Given the description of an element on the screen output the (x, y) to click on. 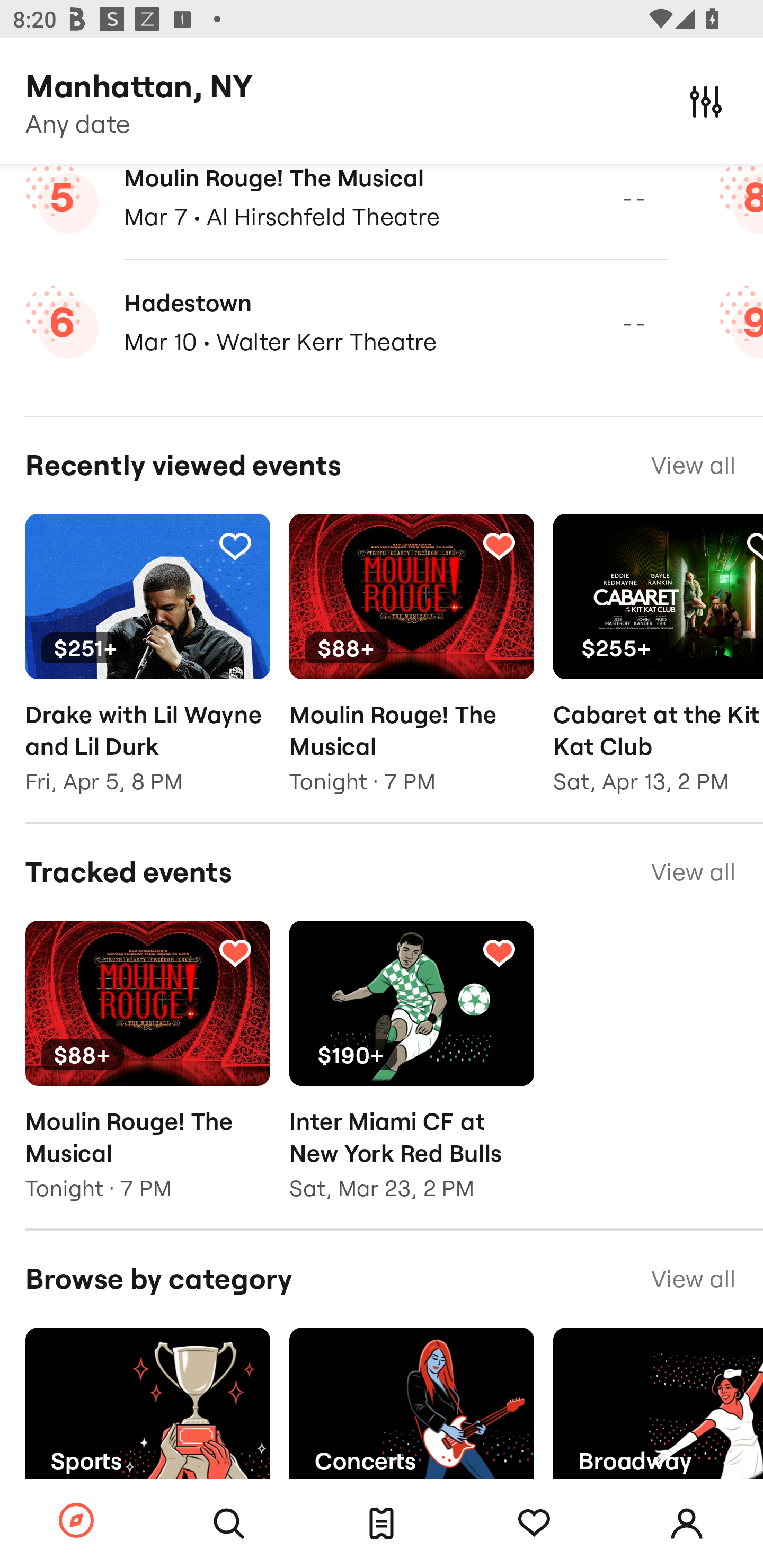
Filters (705, 100)
View all (693, 465)
Tracking (234, 545)
Tracking (498, 545)
View all (693, 871)
Tracking (234, 952)
Tracking (498, 952)
View all (693, 1279)
Sports (147, 1410)
Concerts (411, 1410)
Broadway (658, 1410)
Browse (76, 1521)
Search (228, 1523)
Tickets (381, 1523)
Tracking (533, 1523)
Account (686, 1523)
